Given the description of an element on the screen output the (x, y) to click on. 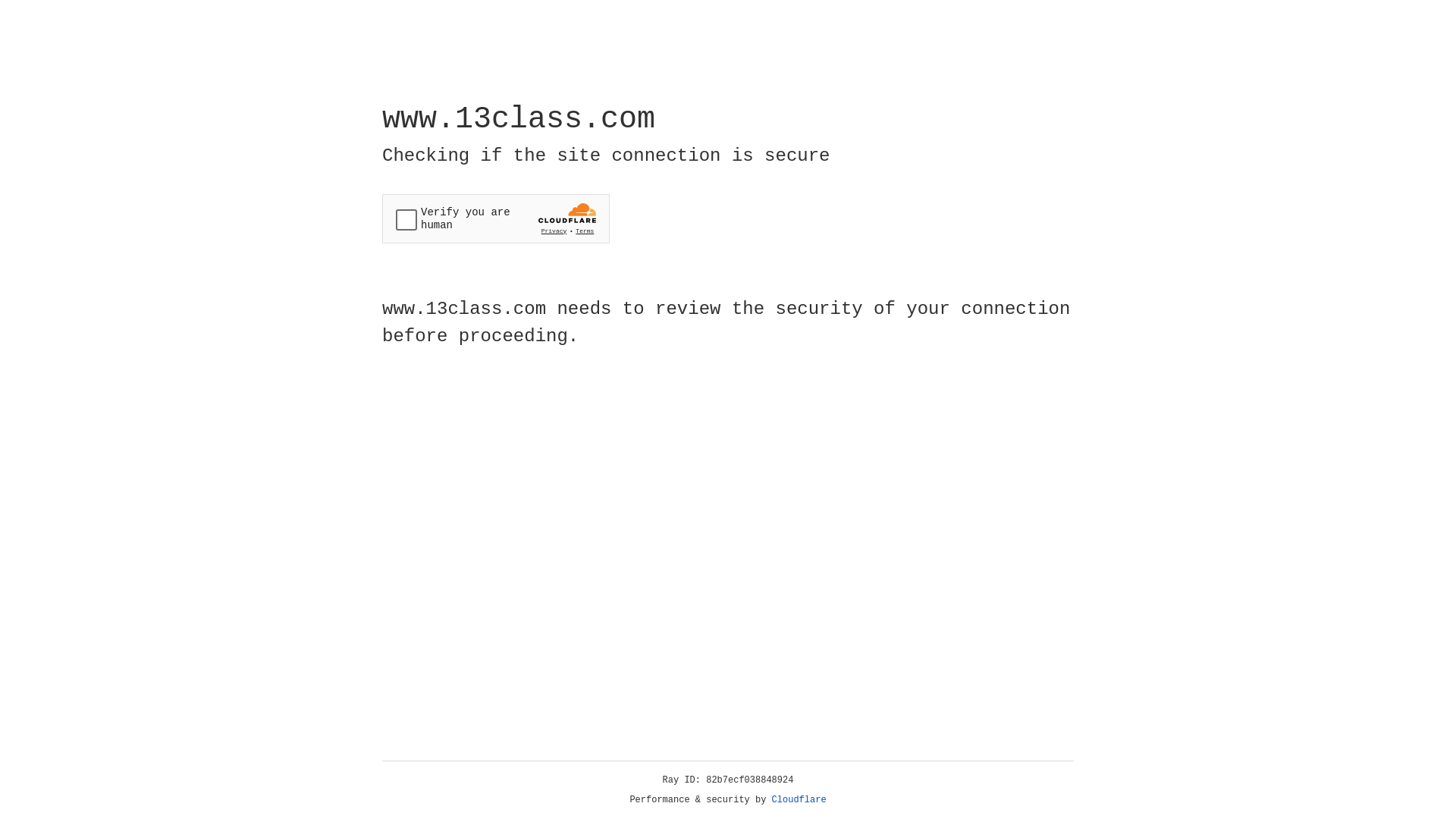
Cloudflare Element type: text (798, 799)
Widget containing a Cloudflare security challenge Element type: hover (495, 218)
